Given the description of an element on the screen output the (x, y) to click on. 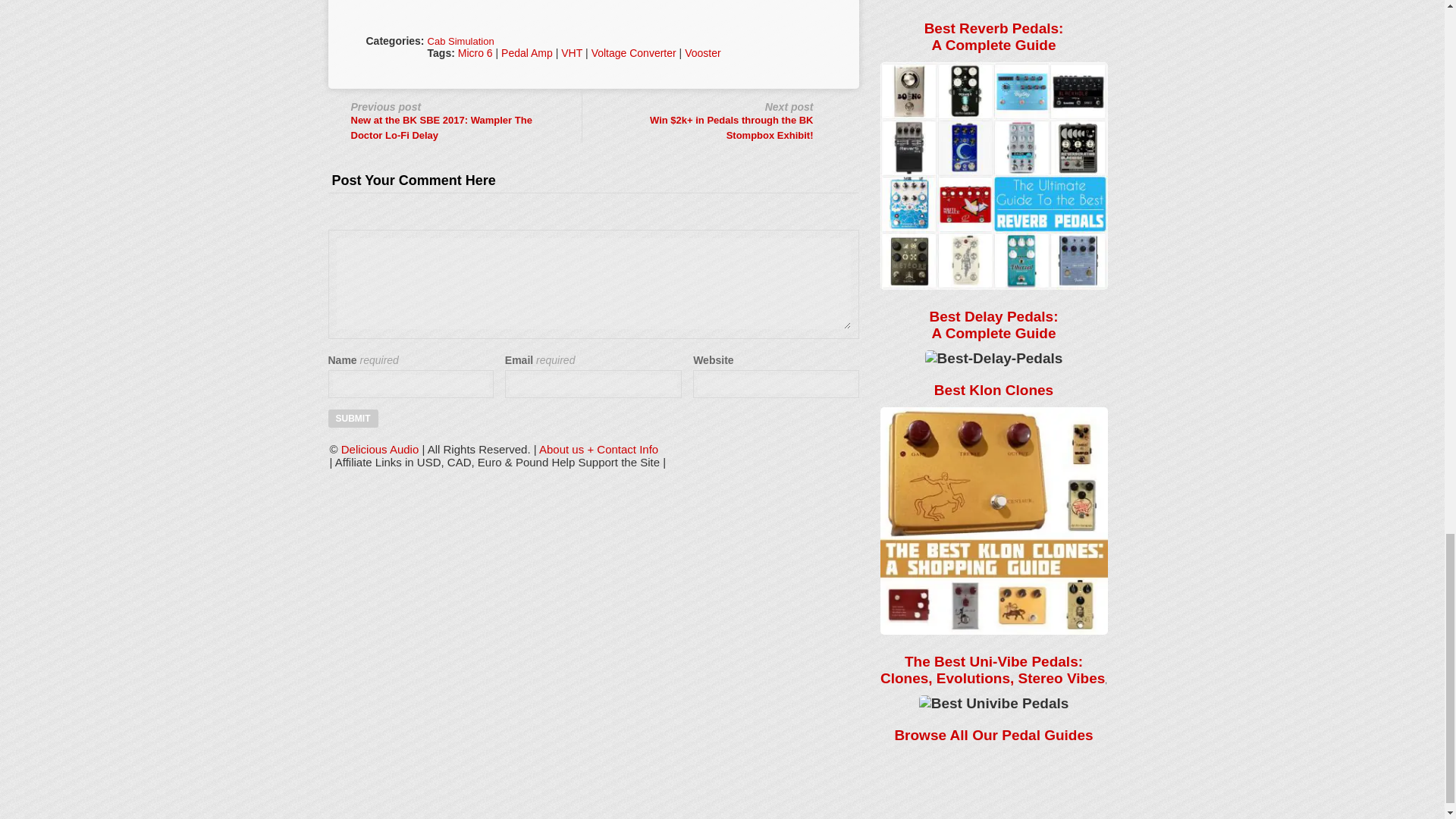
View all posts tagged Voltage Converter (634, 52)
View all posts tagged VHT (571, 52)
SUBMIT (352, 418)
View all posts tagged Vooster (702, 52)
View all posts tagged Micro 6 (475, 52)
View all posts tagged Pedal Amp (526, 52)
